Given the description of an element on the screen output the (x, y) to click on. 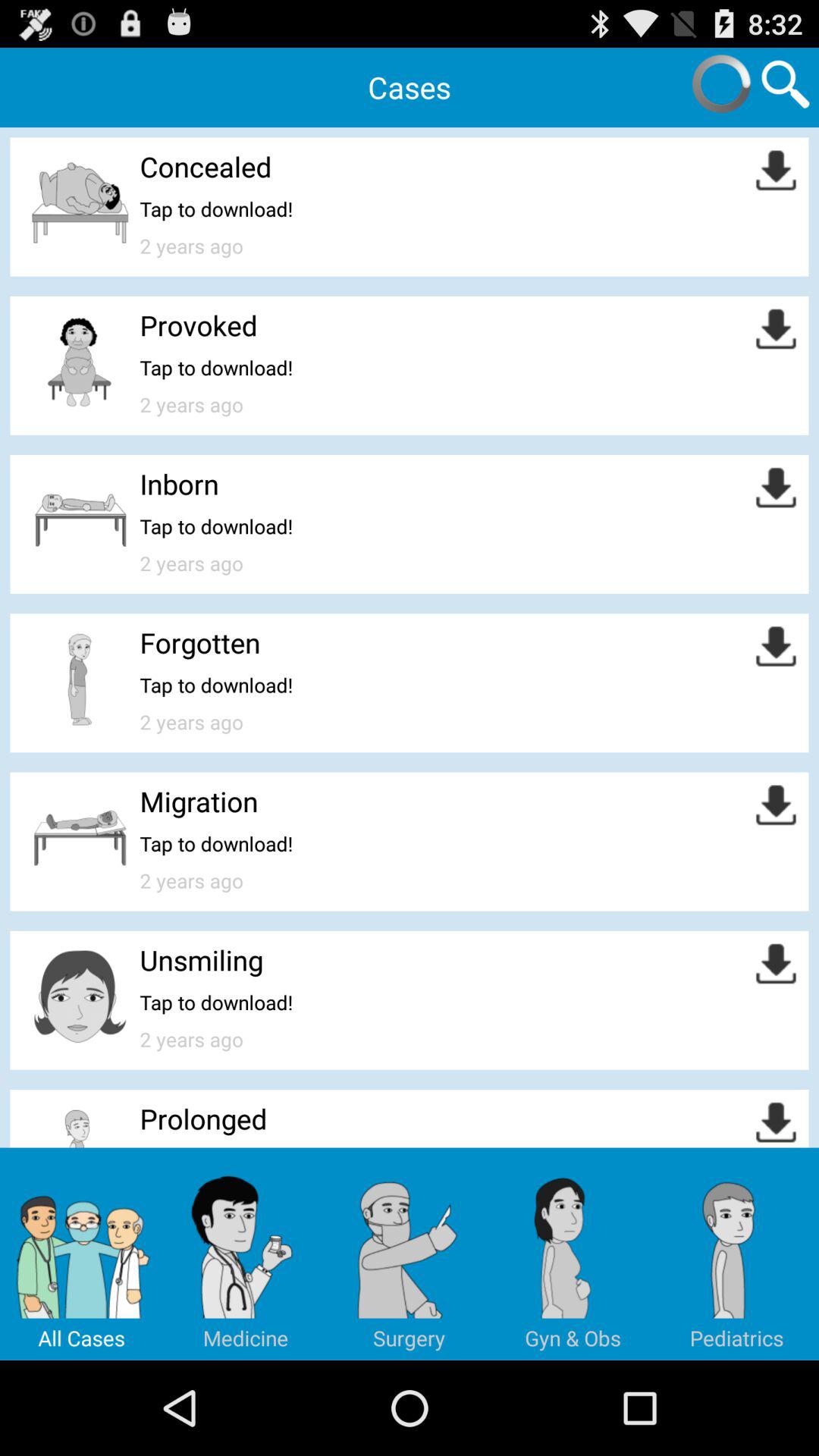
swipe until migration icon (198, 801)
